Given the description of an element on the screen output the (x, y) to click on. 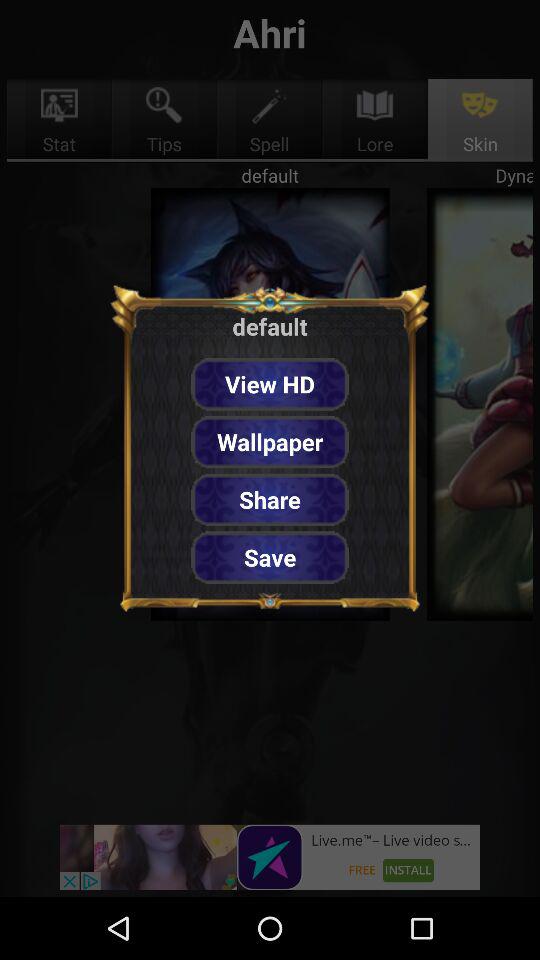
launch the item above share button (269, 441)
